Given the description of an element on the screen output the (x, y) to click on. 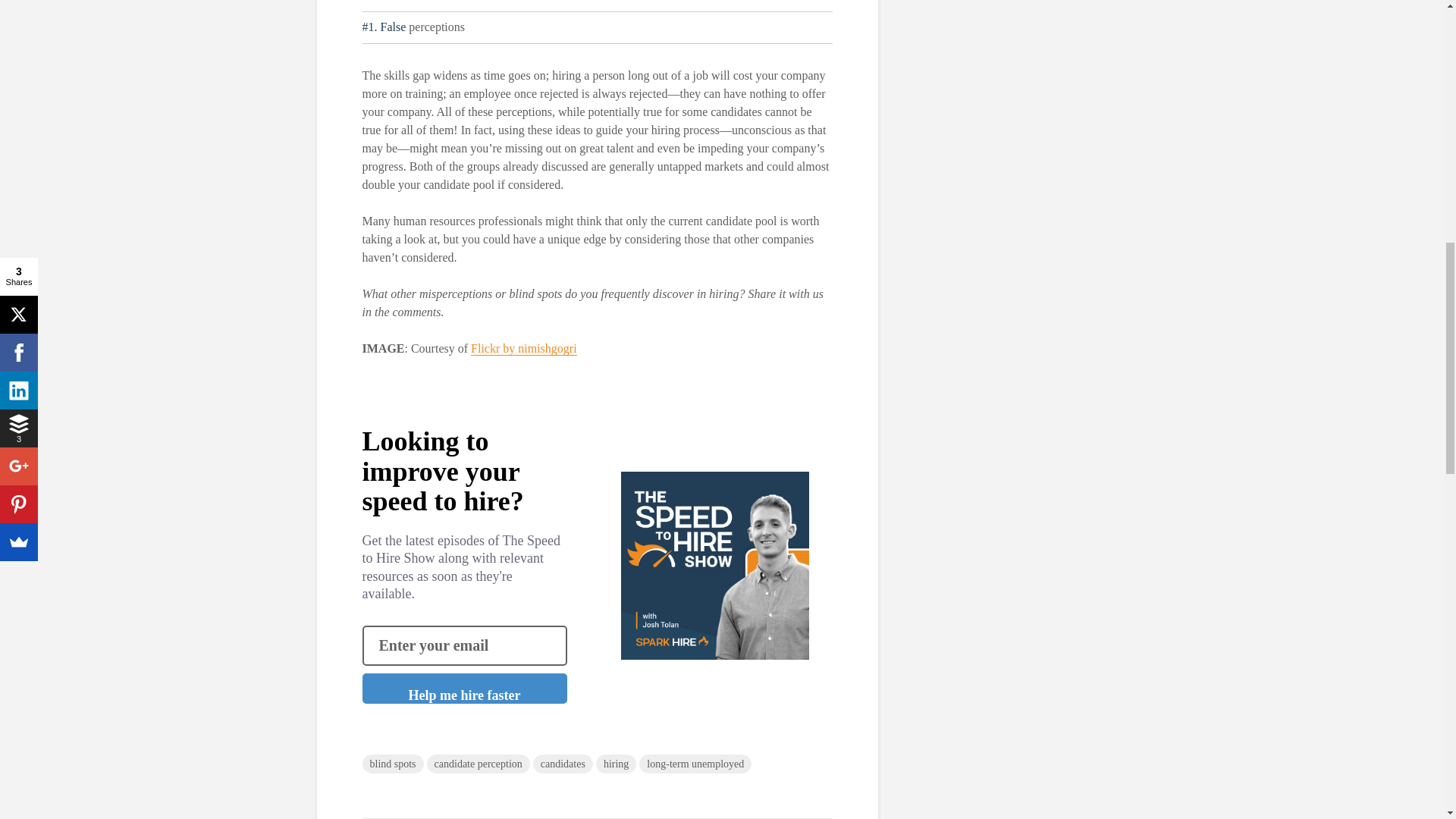
Help me hire faster (464, 688)
